Given the description of an element on the screen output the (x, y) to click on. 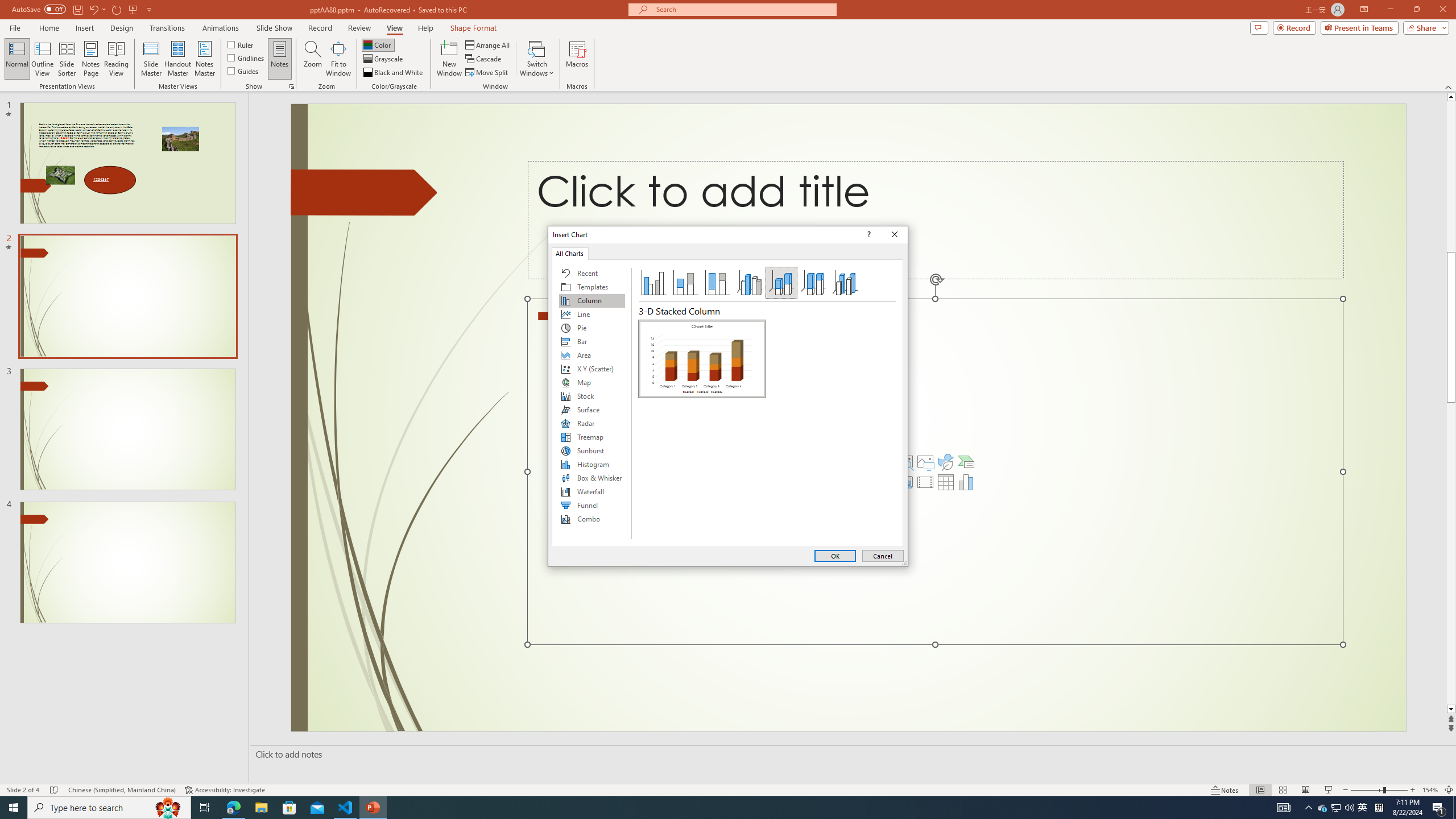
3-D Clustered Column (749, 282)
Stock (591, 395)
Notes Page (90, 58)
Recent (591, 273)
Column (591, 300)
Class: NetUIGalleryContainer (701, 429)
Stacked Column (685, 282)
